Given the description of an element on the screen output the (x, y) to click on. 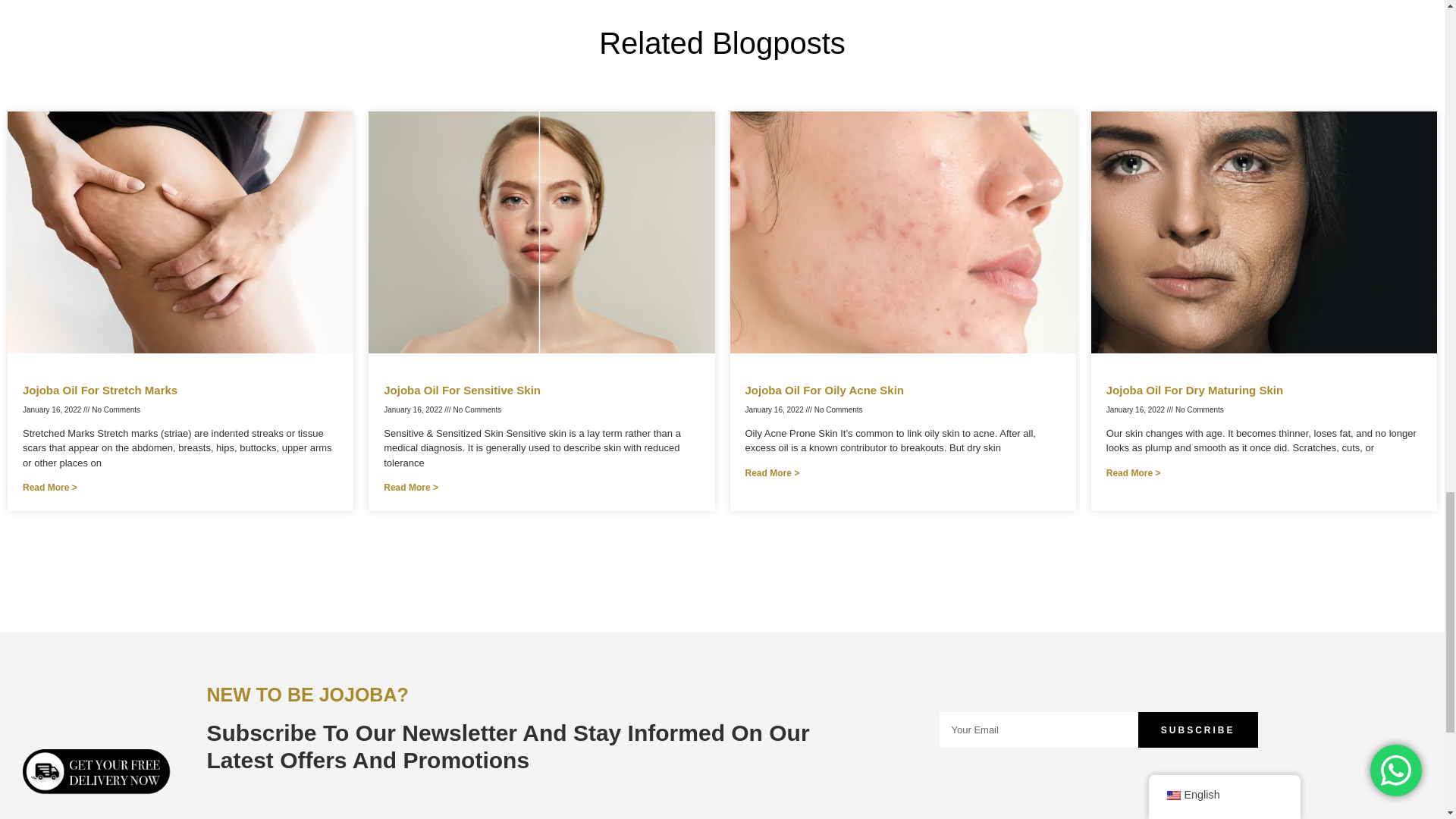
Jojoba Oil For Stretch Marks (100, 390)
Jojoba Oil For Sensitive Skin (462, 390)
